Given the description of an element on the screen output the (x, y) to click on. 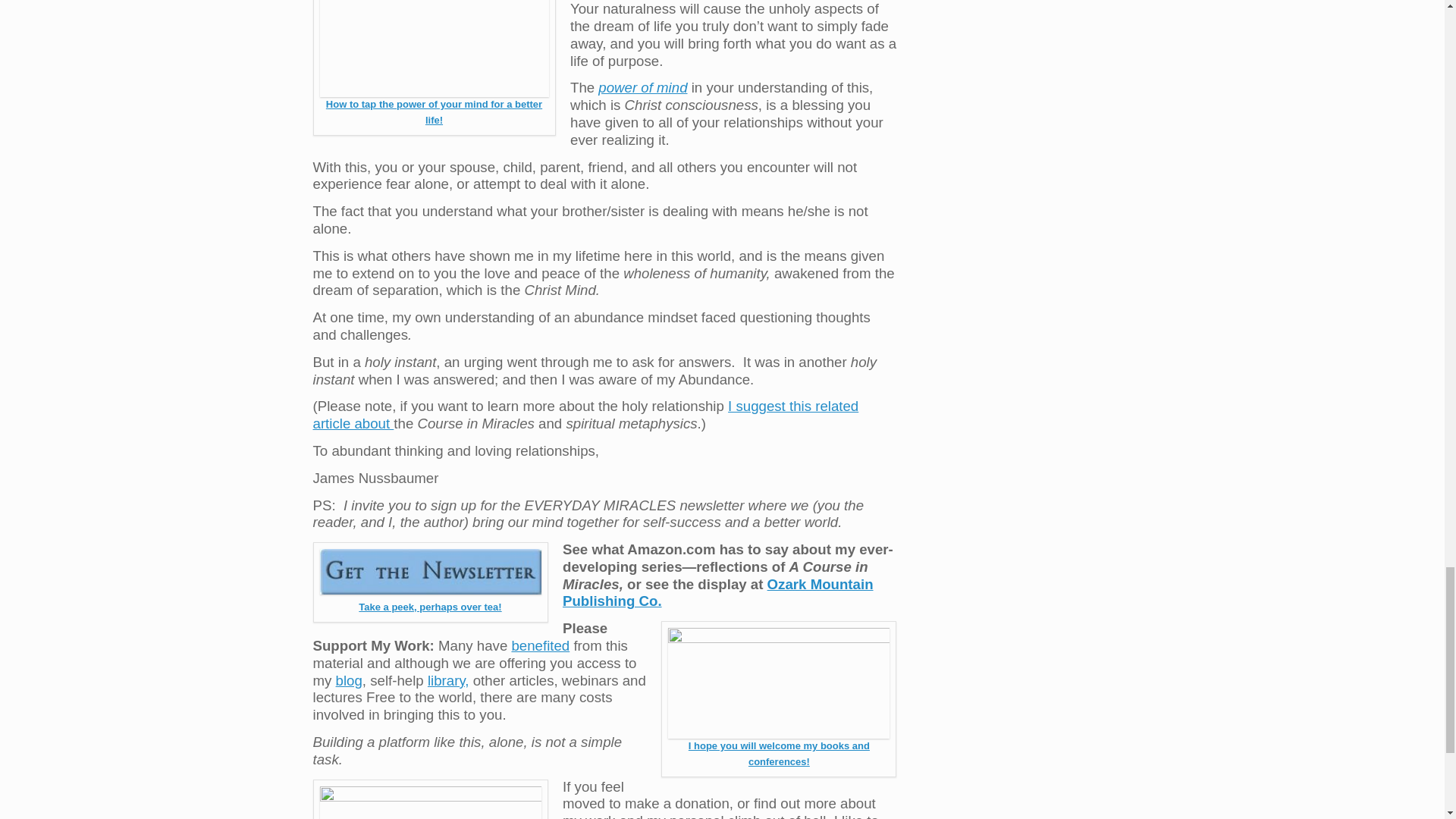
library, (448, 680)
Ozark Mountain Publishing Co. (717, 592)
power of mind (642, 87)
I suggest this related article about (586, 414)
How to tap the power of your mind for a better life! (433, 112)
I hope you will welcome my books and conferences! (778, 753)
blog (349, 680)
benefited (540, 645)
Take a peek, perhaps over tea! (429, 606)
